Given the description of an element on the screen output the (x, y) to click on. 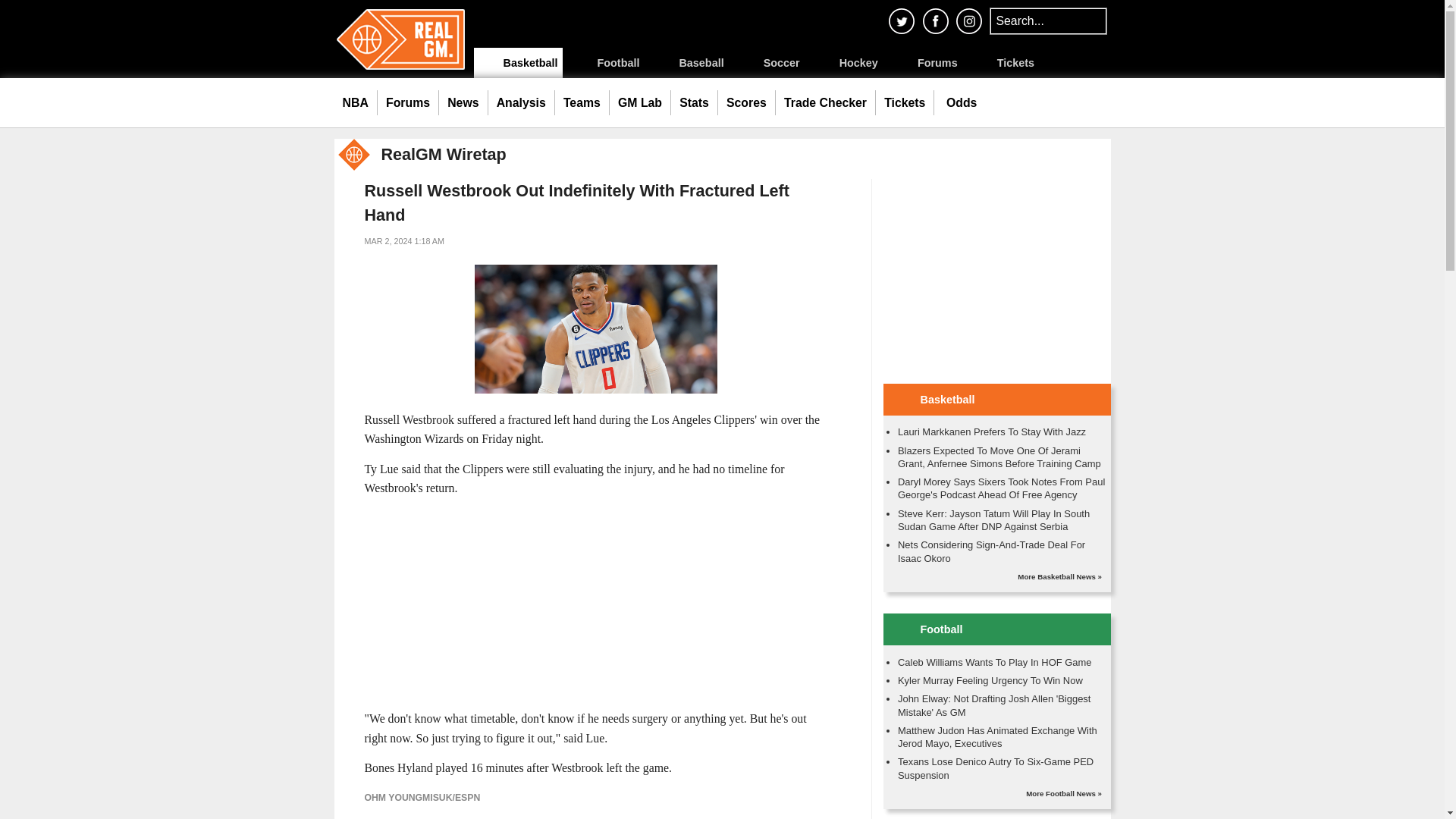
RealGM on Facebook (935, 20)
Tickets (1002, 62)
RealGM on Twitter (901, 20)
Baseball (688, 62)
Forums (924, 62)
Forums (407, 102)
RealGM on Instagram (969, 20)
NBA (355, 102)
Hockey (845, 62)
Football (605, 62)
Soccer (769, 62)
Basketball (517, 62)
